Given the description of an element on the screen output the (x, y) to click on. 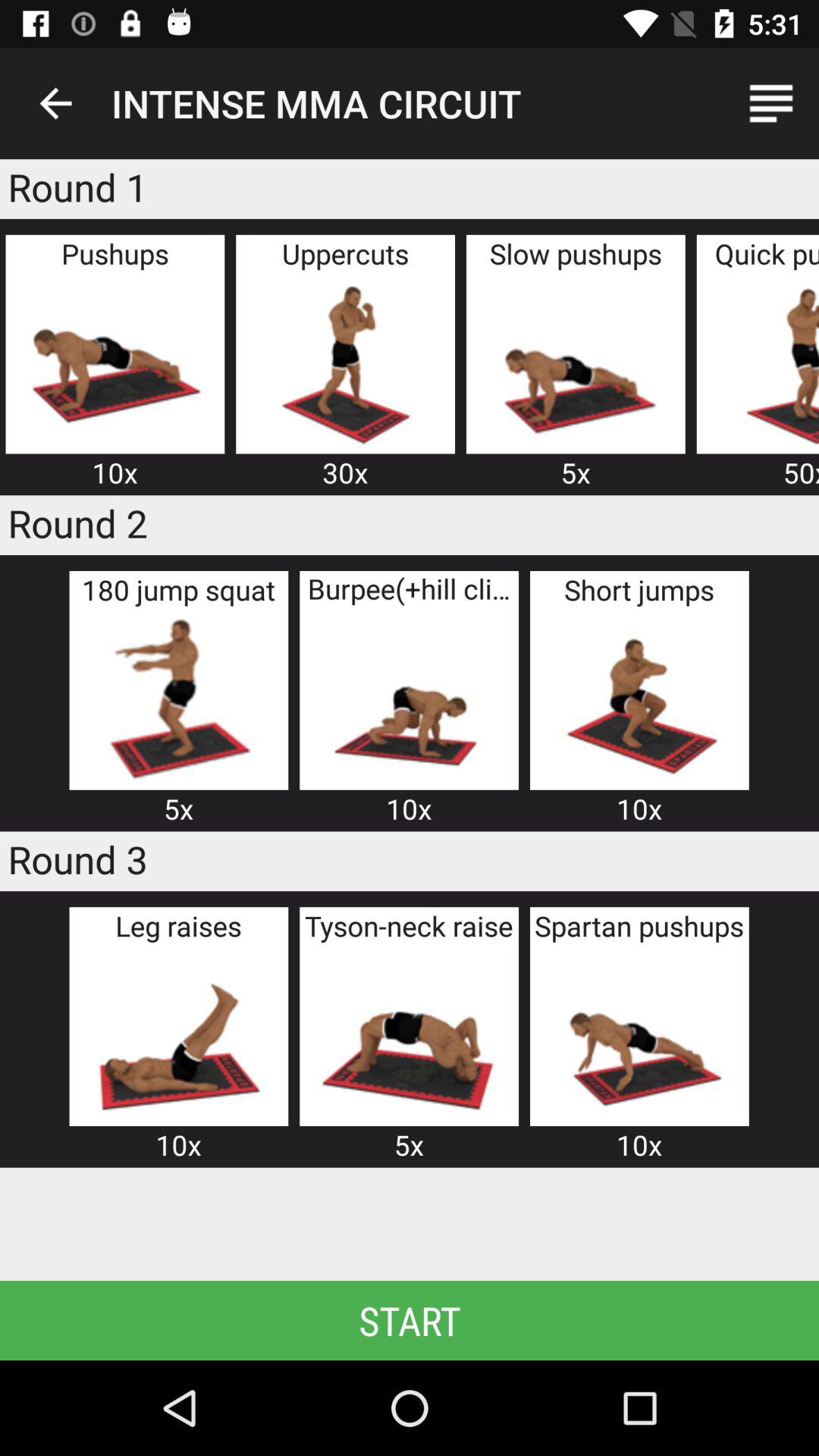
open the app to the right of uppercuts app (575, 362)
